Given the description of an element on the screen output the (x, y) to click on. 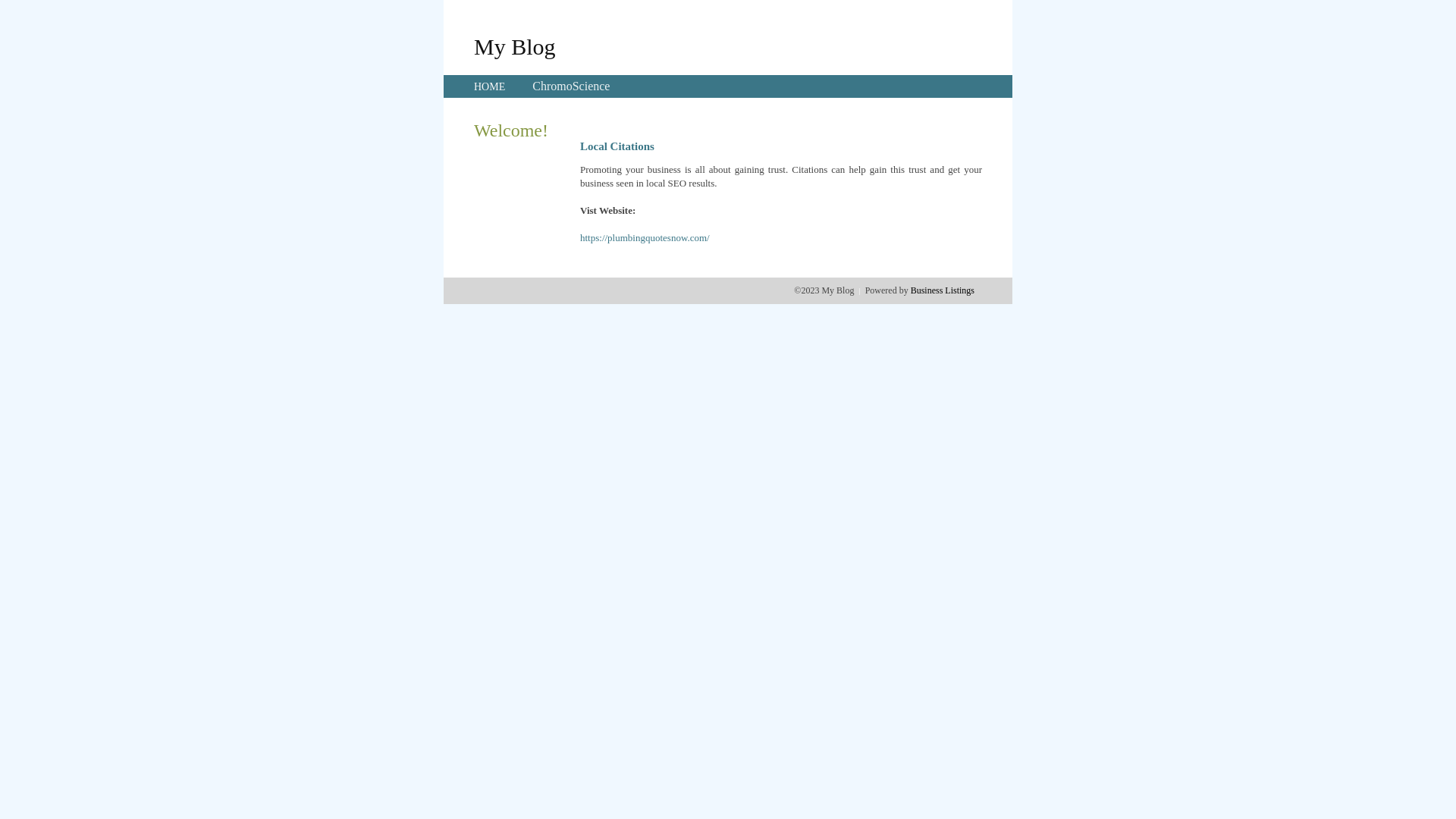
My Blog Element type: text (514, 46)
Business Listings Element type: text (942, 290)
https://plumbingquotesnow.com/ Element type: text (644, 237)
ChromoScience Element type: text (570, 85)
HOME Element type: text (489, 86)
